Given the description of an element on the screen output the (x, y) to click on. 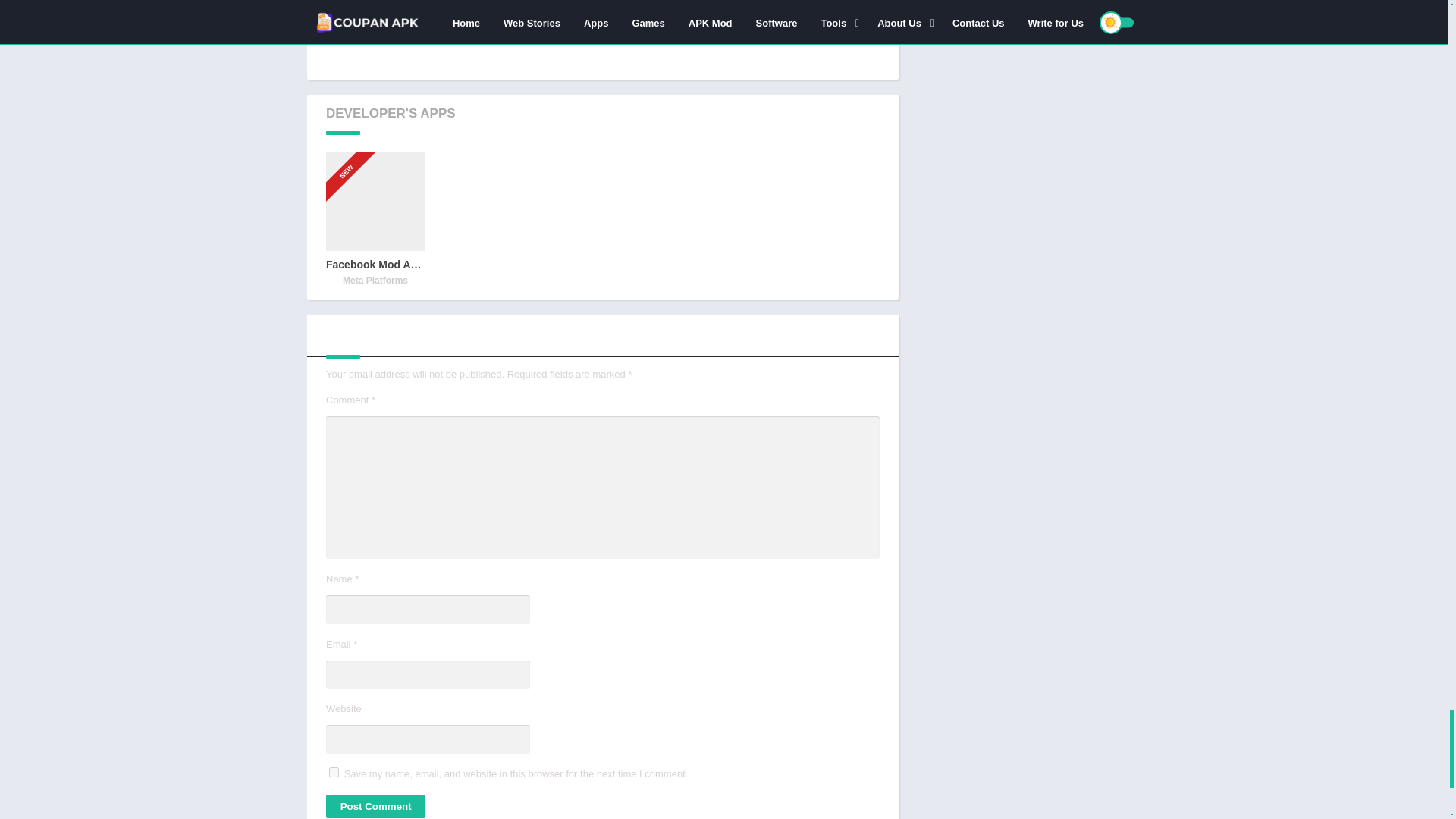
Post Comment (375, 806)
yes (334, 772)
